Given the description of an element on the screen output the (x, y) to click on. 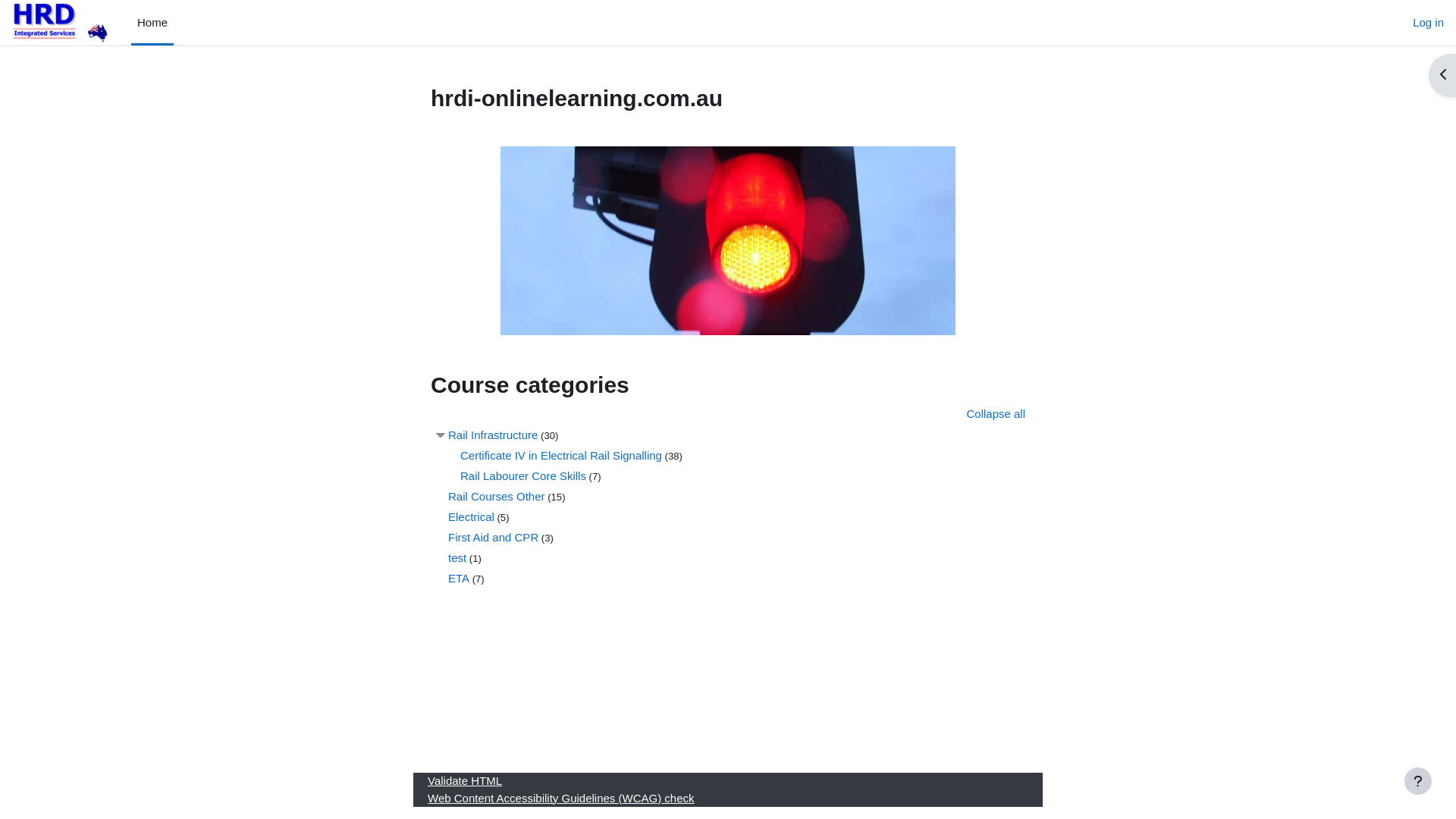
test Element type: text (457, 556)
Log in Element type: text (1427, 22)
First Aid and CPR Element type: text (493, 536)
ETA Element type: text (458, 577)
Electrical Element type: text (471, 515)
Certificate IV in Electrical Rail Signalling Element type: text (561, 454)
Validate HTML Element type: text (464, 780)
Rail Infrastructure Element type: text (492, 433)
Web Content Accessibility Guidelines (WCAG) check Element type: text (560, 797)
Home Element type: text (152, 22)
Rail Labourer Core Skills Element type: text (523, 474)
Rail Courses Other Element type: text (496, 495)
Collapse all Element type: text (995, 413)
